Given the description of an element on the screen output the (x, y) to click on. 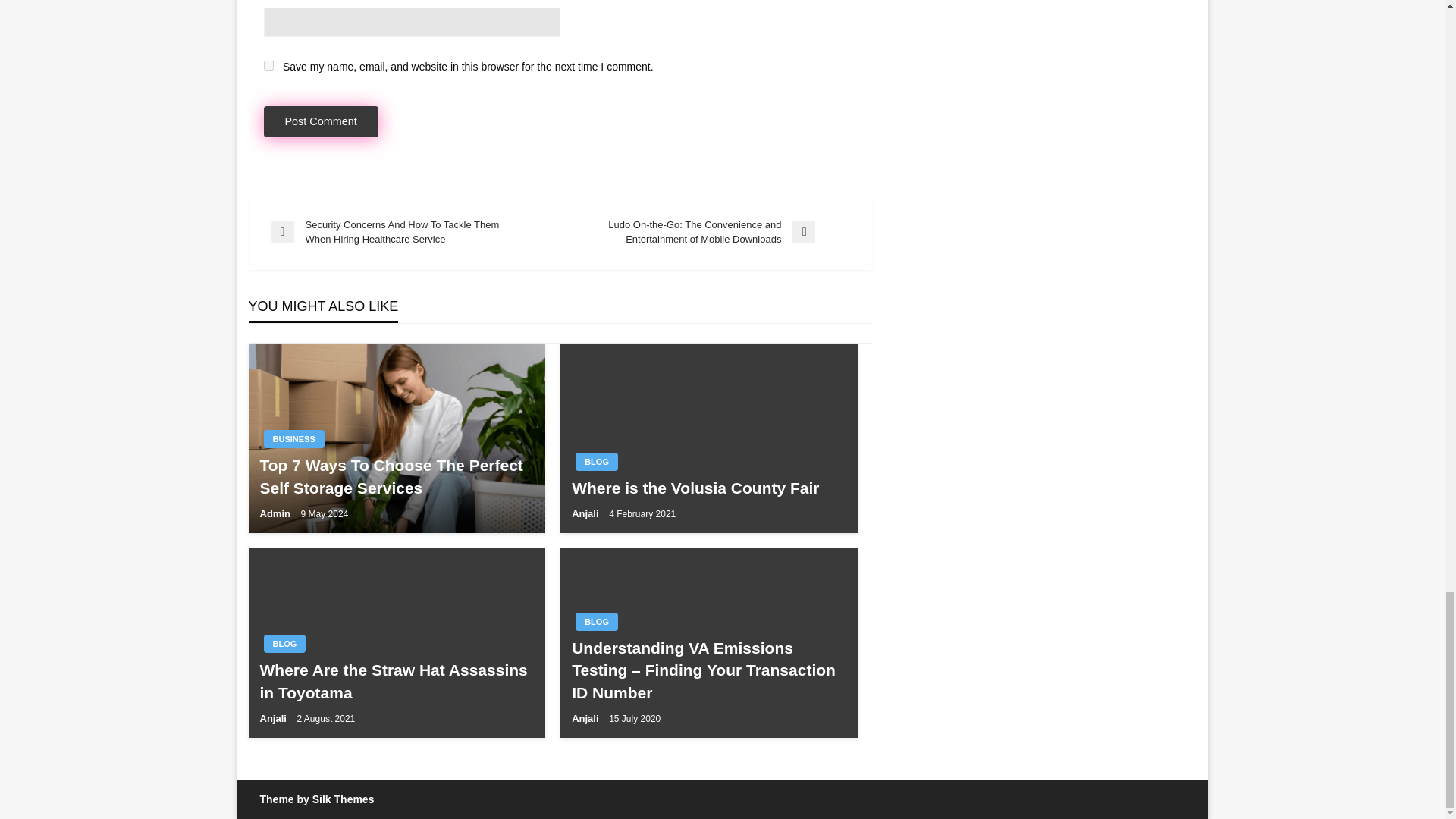
BLOG (596, 461)
Where is the Volusia County Fair (708, 487)
BUSINESS (293, 438)
Top 7 Ways To Choose The Perfect Self Storage Services (396, 476)
Anjali (586, 513)
BLOG (596, 621)
yes (268, 65)
Admin (275, 513)
